Given the description of an element on the screen output the (x, y) to click on. 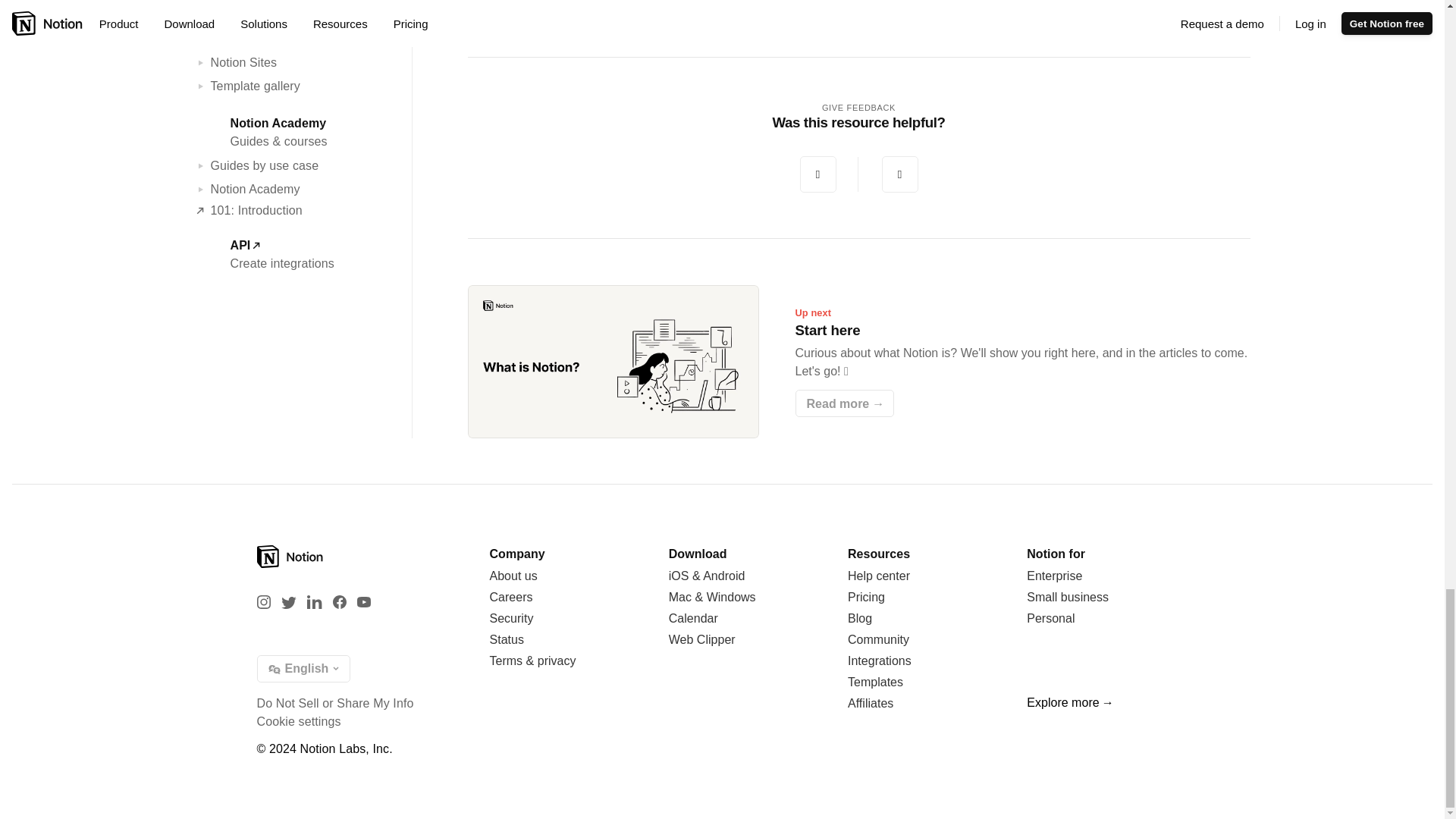
Start here (858, 361)
